Given the description of an element on the screen output the (x, y) to click on. 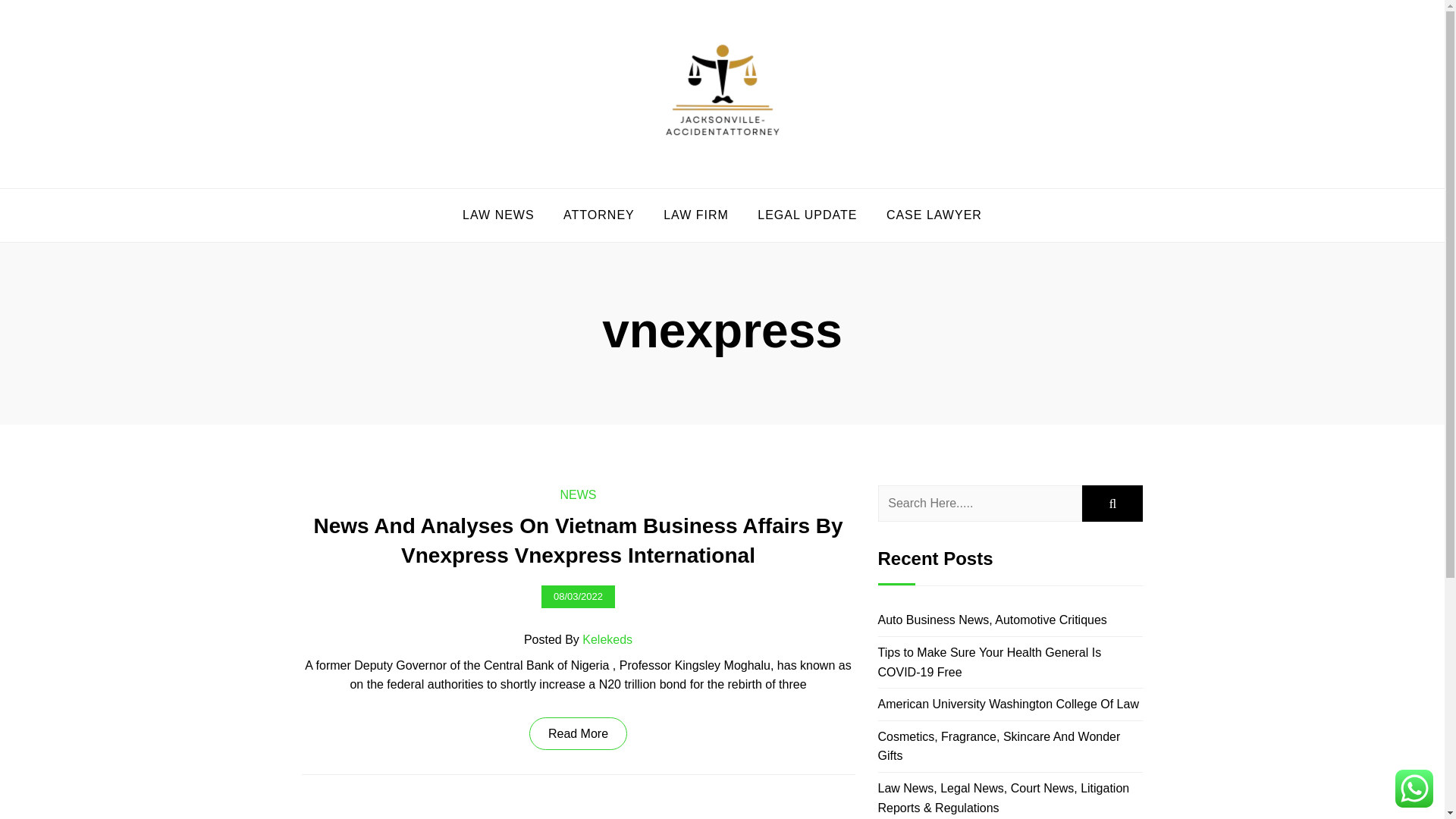
LEGAL UPDATE (806, 215)
CASE LAWYER (933, 215)
J-A (340, 185)
NEWS (577, 494)
Tips to Make Sure Your Health General Is COVID-19 Free (989, 662)
Posted By Kelekeds (577, 639)
Cosmetics, Fragrance, Skincare And Wonder Gifts (999, 746)
LAW FIRM (695, 215)
LAW NEWS (498, 215)
ATTORNEY (598, 215)
Auto Business News, Automotive Critiques (991, 619)
American University Washington College Of Law (1007, 703)
Read More (578, 734)
